Given the description of an element on the screen output the (x, y) to click on. 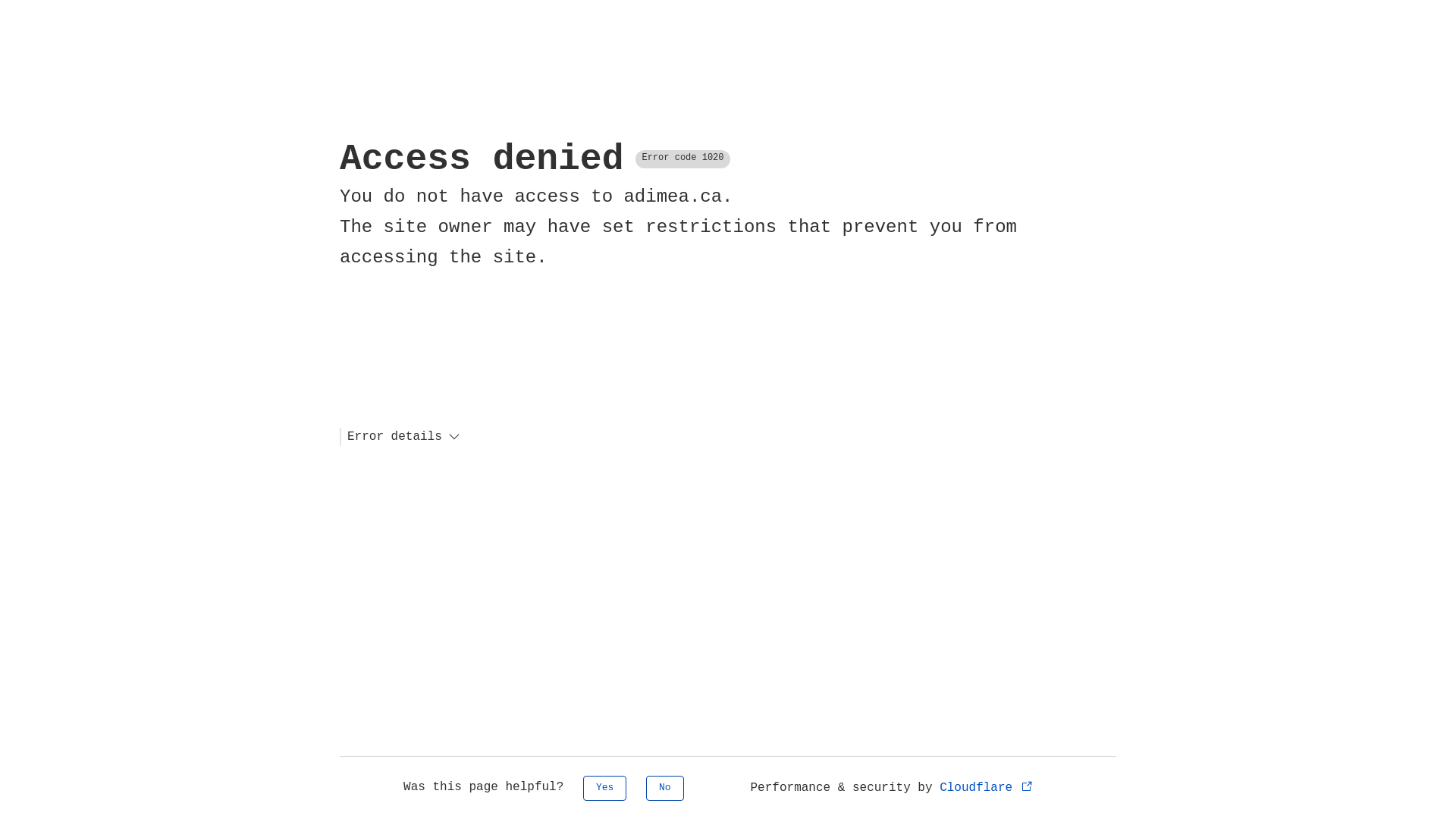
No Element type: text (665, 787)
Yes Element type: text (604, 787)
Opens in new tab Element type: hover (1027, 785)
Cloudflare Element type: text (986, 787)
